Given the description of an element on the screen output the (x, y) to click on. 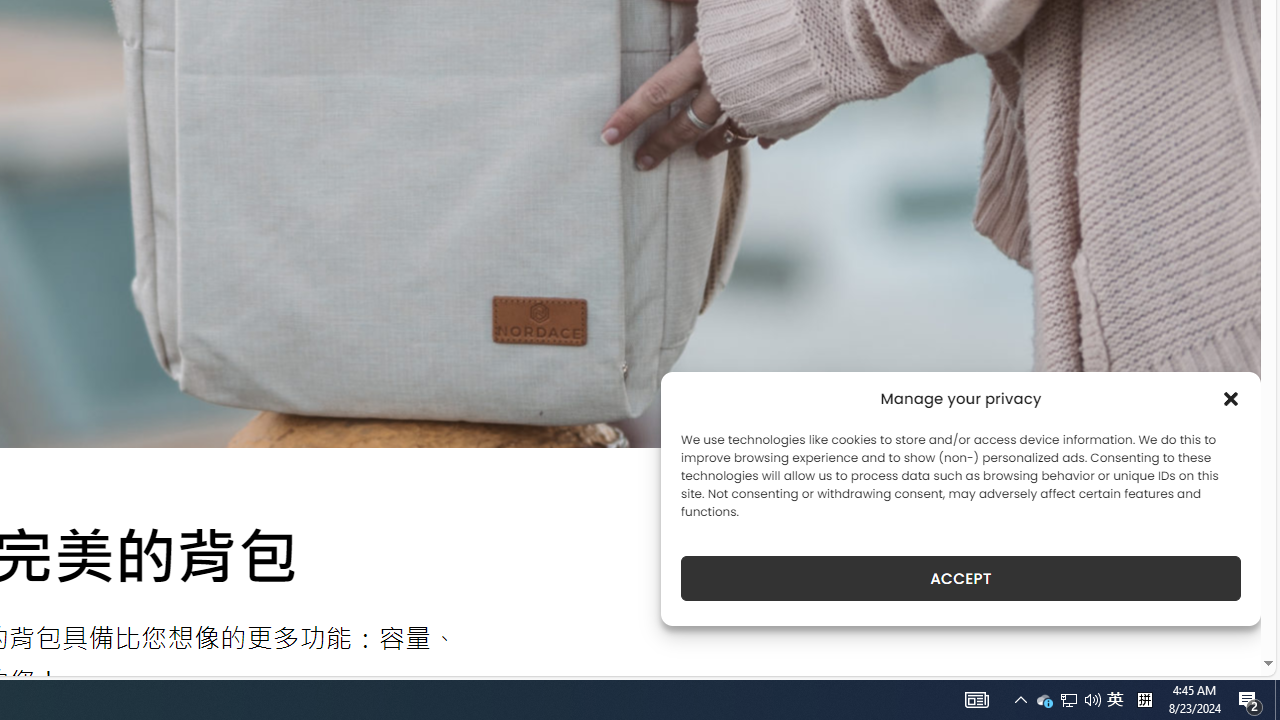
Class: cmplz-close (1231, 398)
ACCEPT (960, 578)
